Given the description of an element on the screen output the (x, y) to click on. 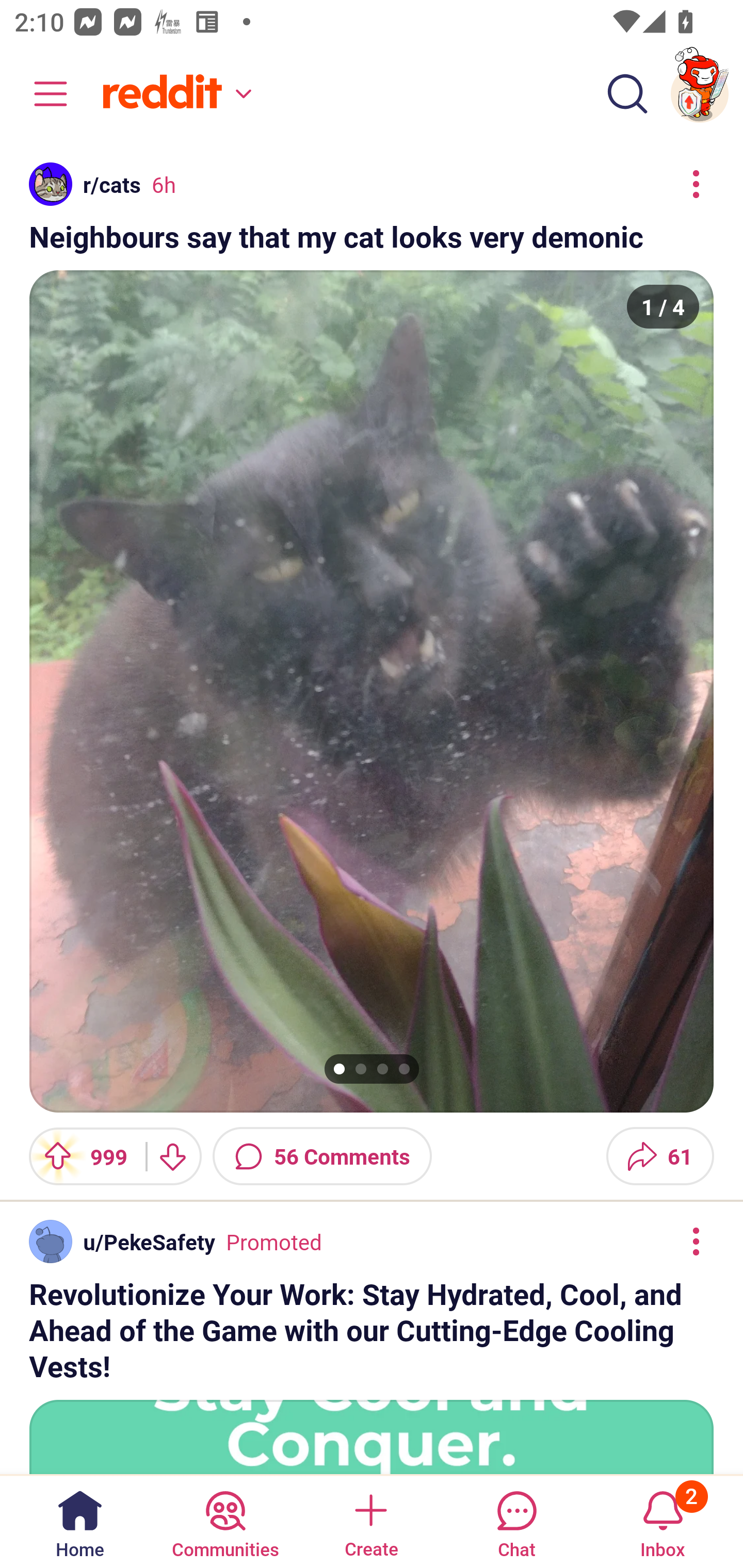
Search (626, 93)
TestAppium002 account (699, 93)
Community menu (41, 94)
Home feed (173, 94)
Home (80, 1520)
Communities (225, 1520)
Create a post Create (370, 1520)
Chat (516, 1520)
Inbox, has 2 notifications 2 Inbox (662, 1520)
